Given the description of an element on the screen output the (x, y) to click on. 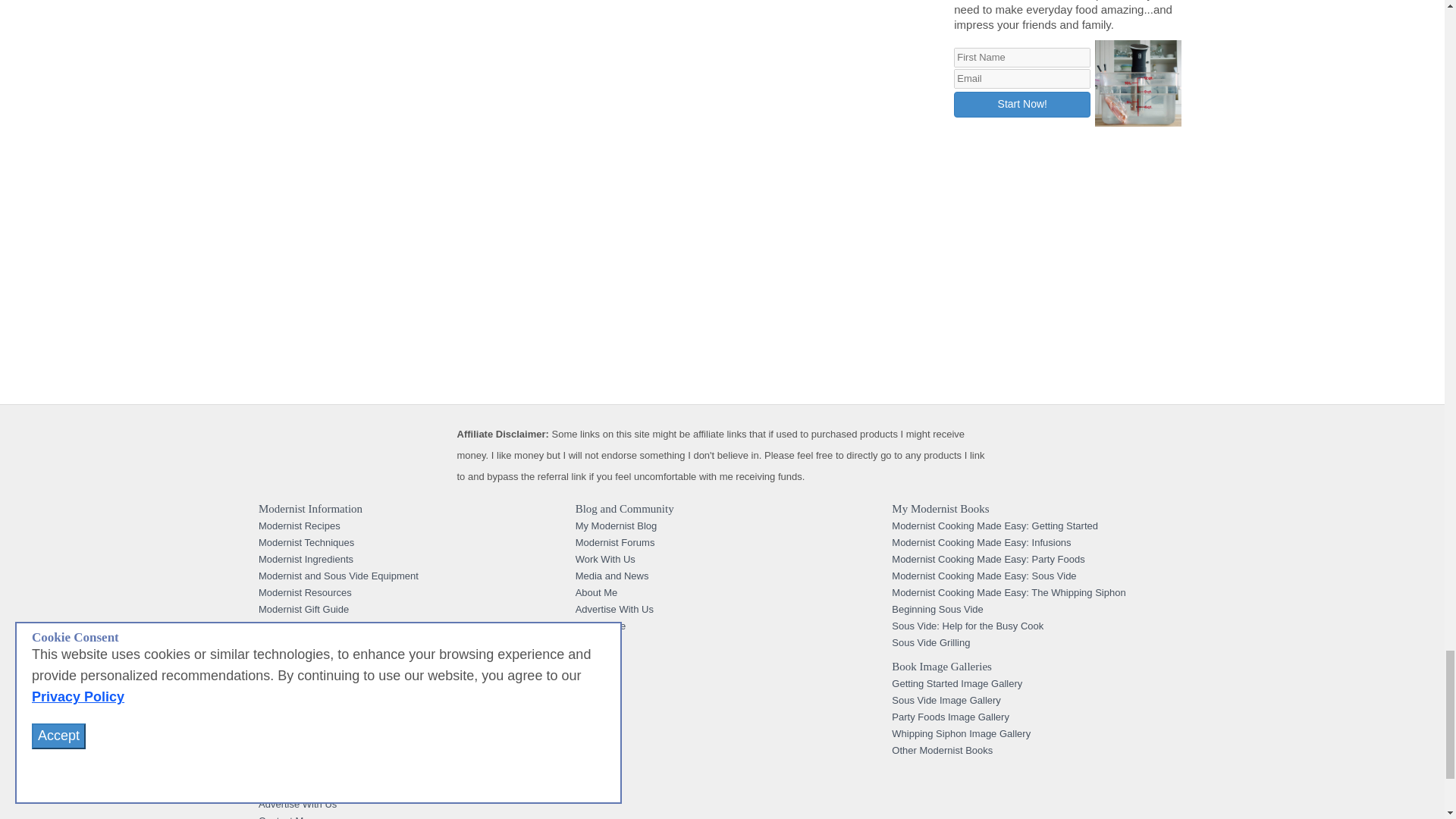
Start Now! (1021, 104)
